Given the description of an element on the screen output the (x, y) to click on. 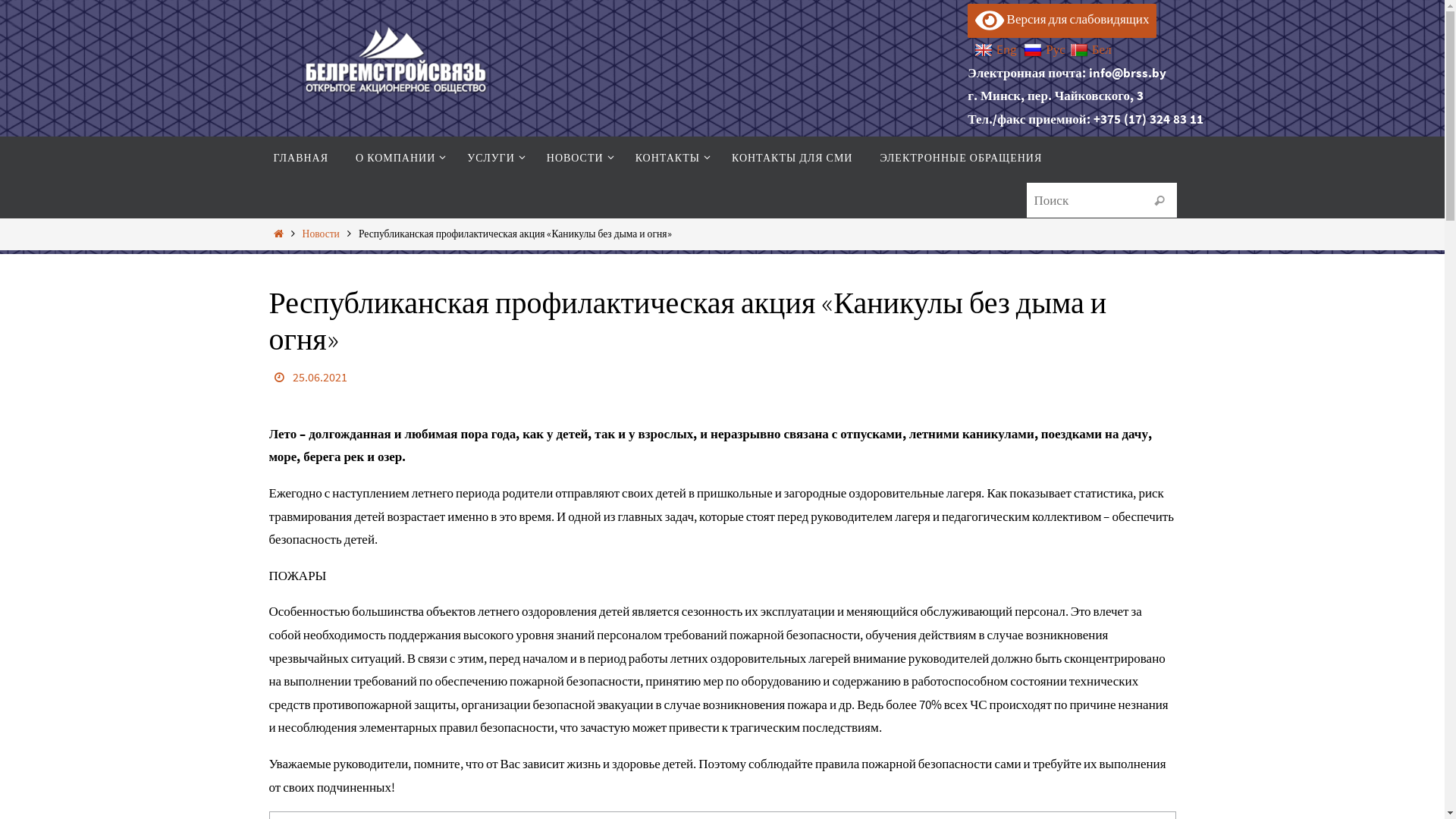
25.06.2021 Element type: text (319, 377)
Eng Element type: text (995, 49)
